Given the description of an element on the screen output the (x, y) to click on. 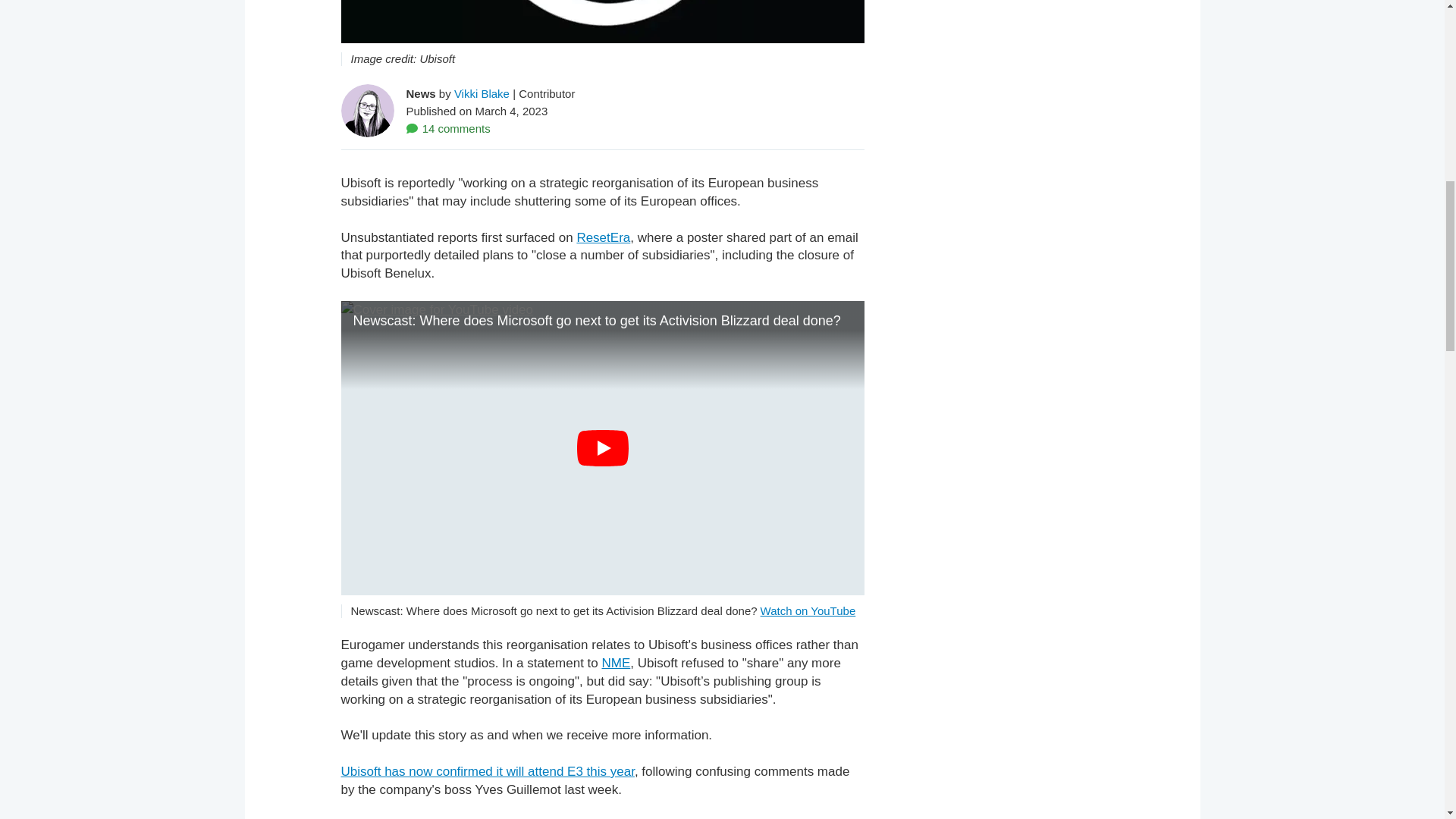
14 comments (448, 127)
Watch on YouTube (808, 610)
Vikki Blake (481, 92)
NME (615, 663)
ResetEra (603, 237)
Ubisoft has now confirmed it will attend E3 this year (487, 771)
